Given the description of an element on the screen output the (x, y) to click on. 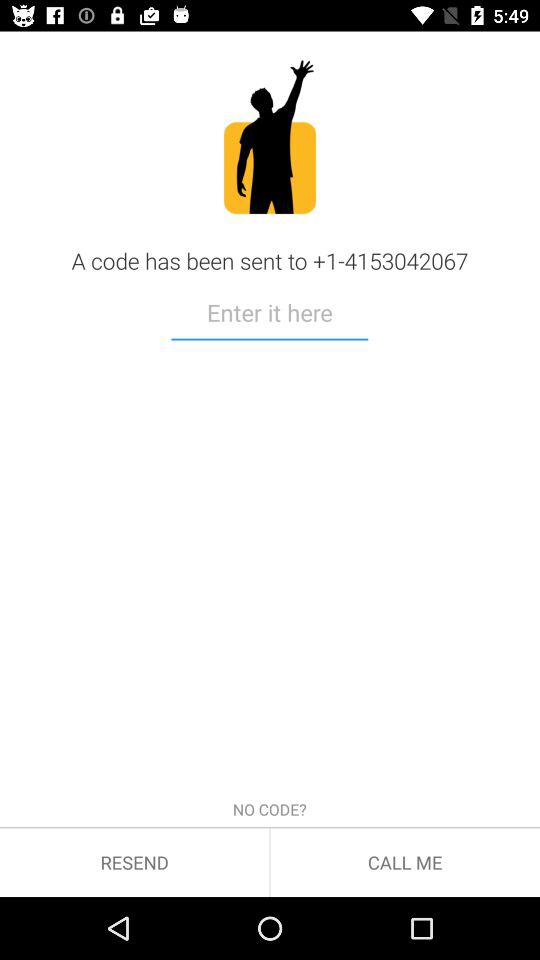
turn off item below the a code has icon (269, 315)
